Given the description of an element on the screen output the (x, y) to click on. 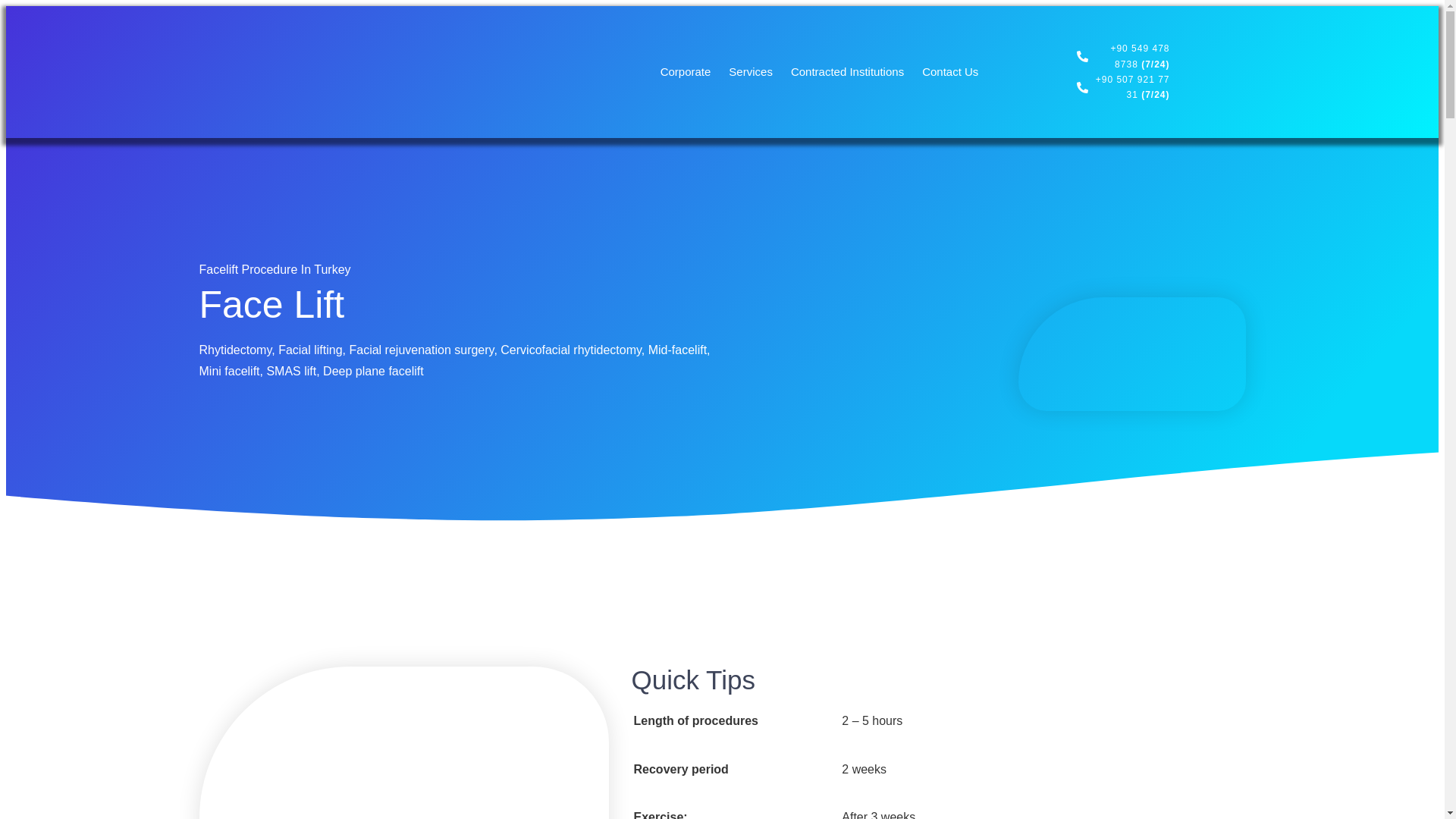
Contact Us (949, 71)
Contracted Institutions (847, 71)
Photo by Ehsan Ahmadi (1130, 354)
Corporate (686, 71)
Services (751, 71)
